Given the description of an element on the screen output the (x, y) to click on. 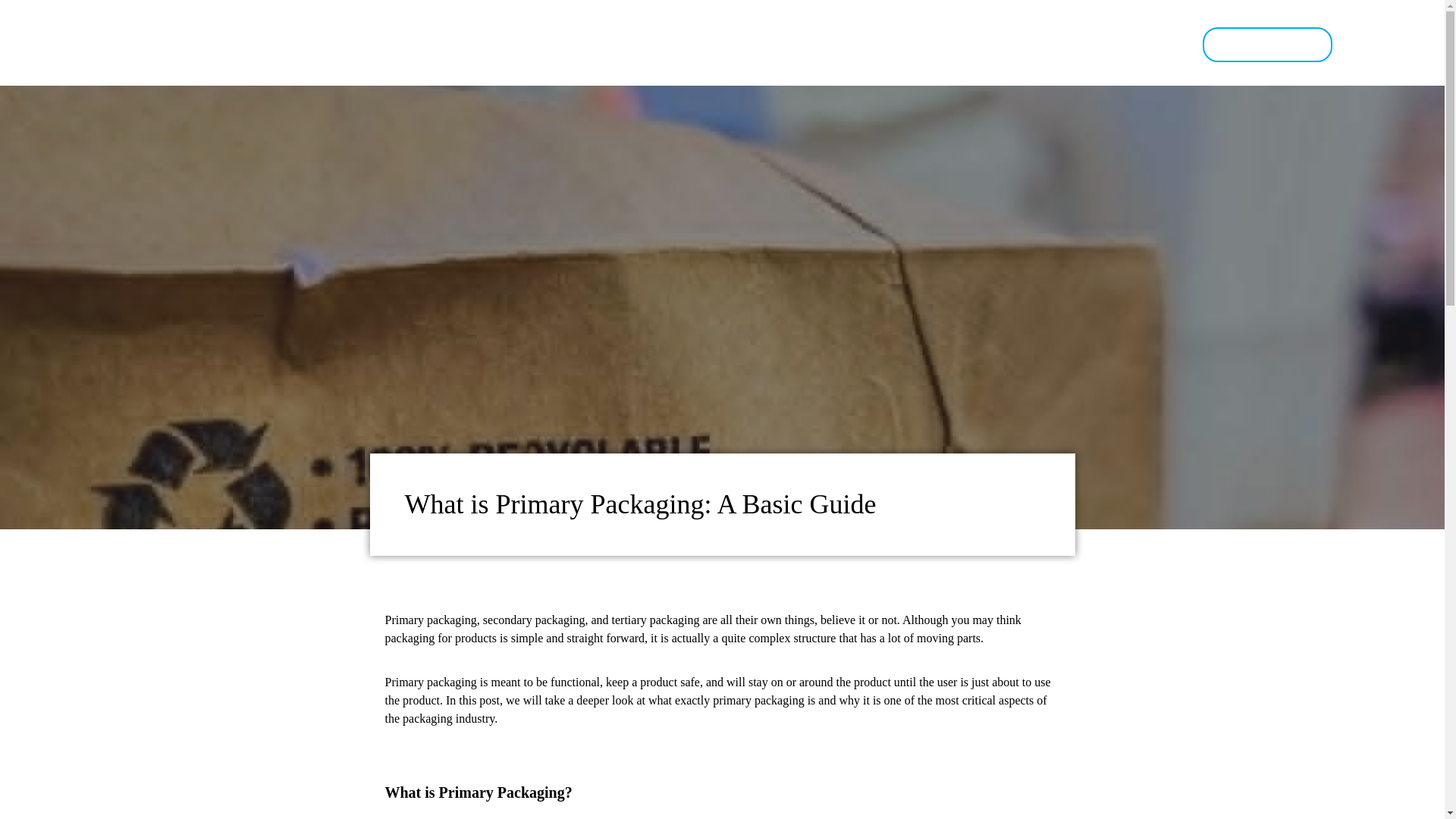
Products (705, 44)
Contact Us (1267, 44)
The Connected Experience (555, 44)
Company (875, 44)
Pricing (788, 44)
Blog (1045, 44)
Investors (968, 44)
